Given the description of an element on the screen output the (x, y) to click on. 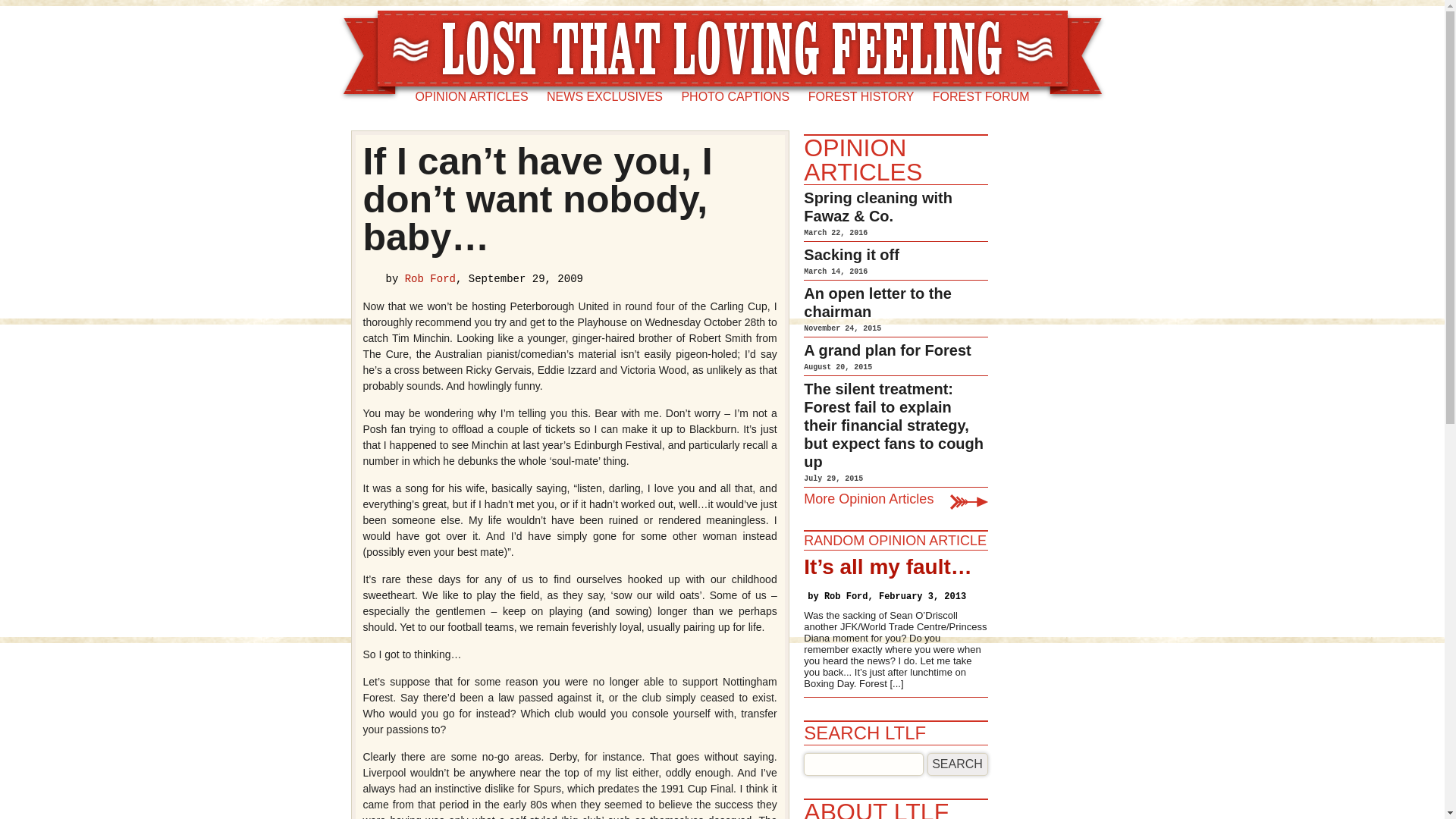
A grand plan for Forest (887, 350)
Rob Ford (429, 278)
FOREST HISTORY (861, 97)
A grand plan for Forest (887, 350)
NEWS EXCLUSIVES (604, 97)
OPINION ARTICLES (471, 97)
Sacking it off (851, 254)
FOREST FORUM (981, 97)
An open letter to the chairman (876, 302)
Search (957, 763)
Opinion Articles (862, 159)
Search (957, 763)
An open letter to the chairman (876, 302)
